Given the description of an element on the screen output the (x, y) to click on. 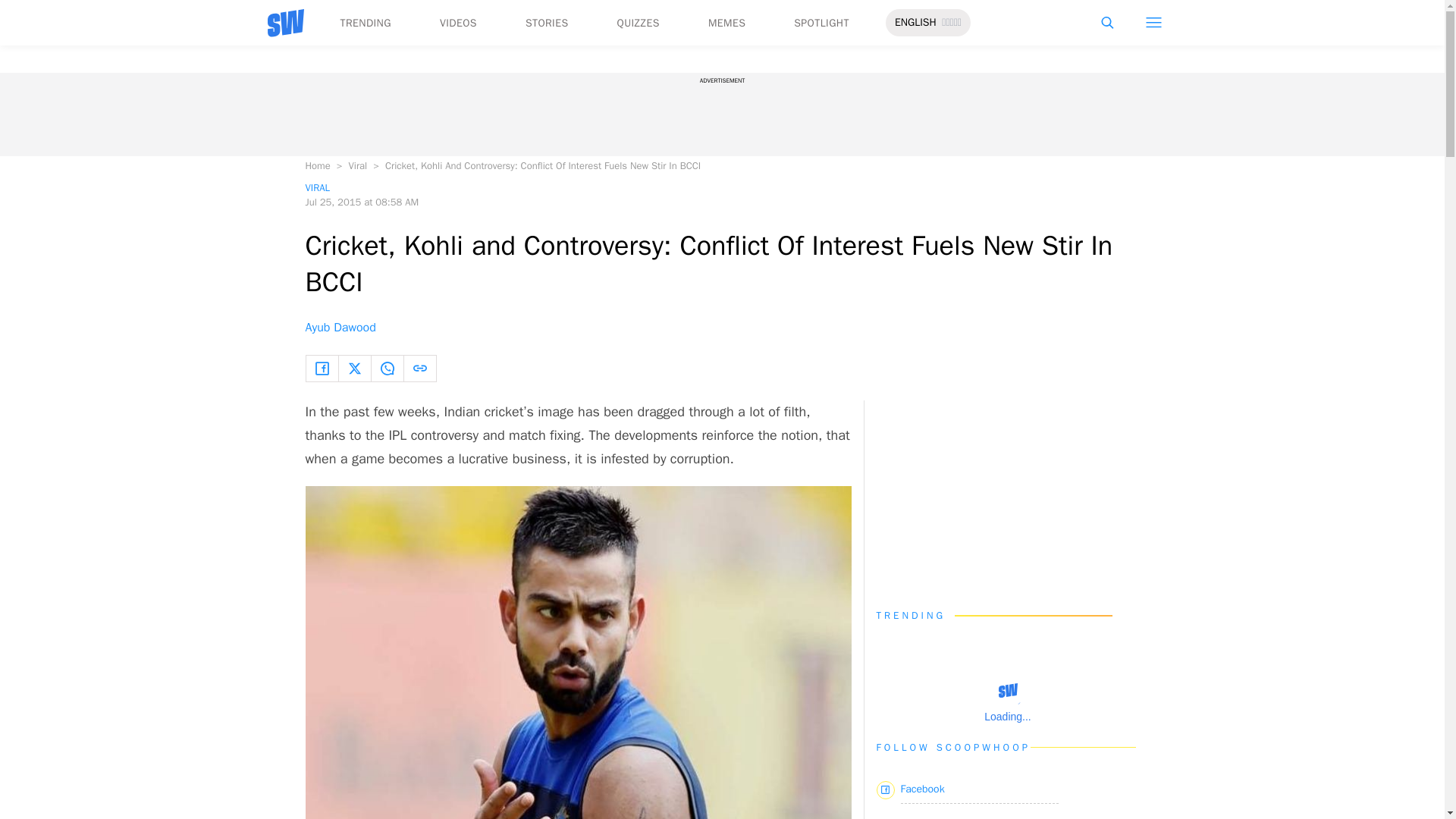
MEMES (726, 22)
STORIES (547, 22)
TRENDING (364, 22)
VIDEOS (458, 22)
ENGLISH (915, 22)
QUIZZES (638, 22)
SPOTLIGHT (820, 22)
